Given the description of an element on the screen output the (x, y) to click on. 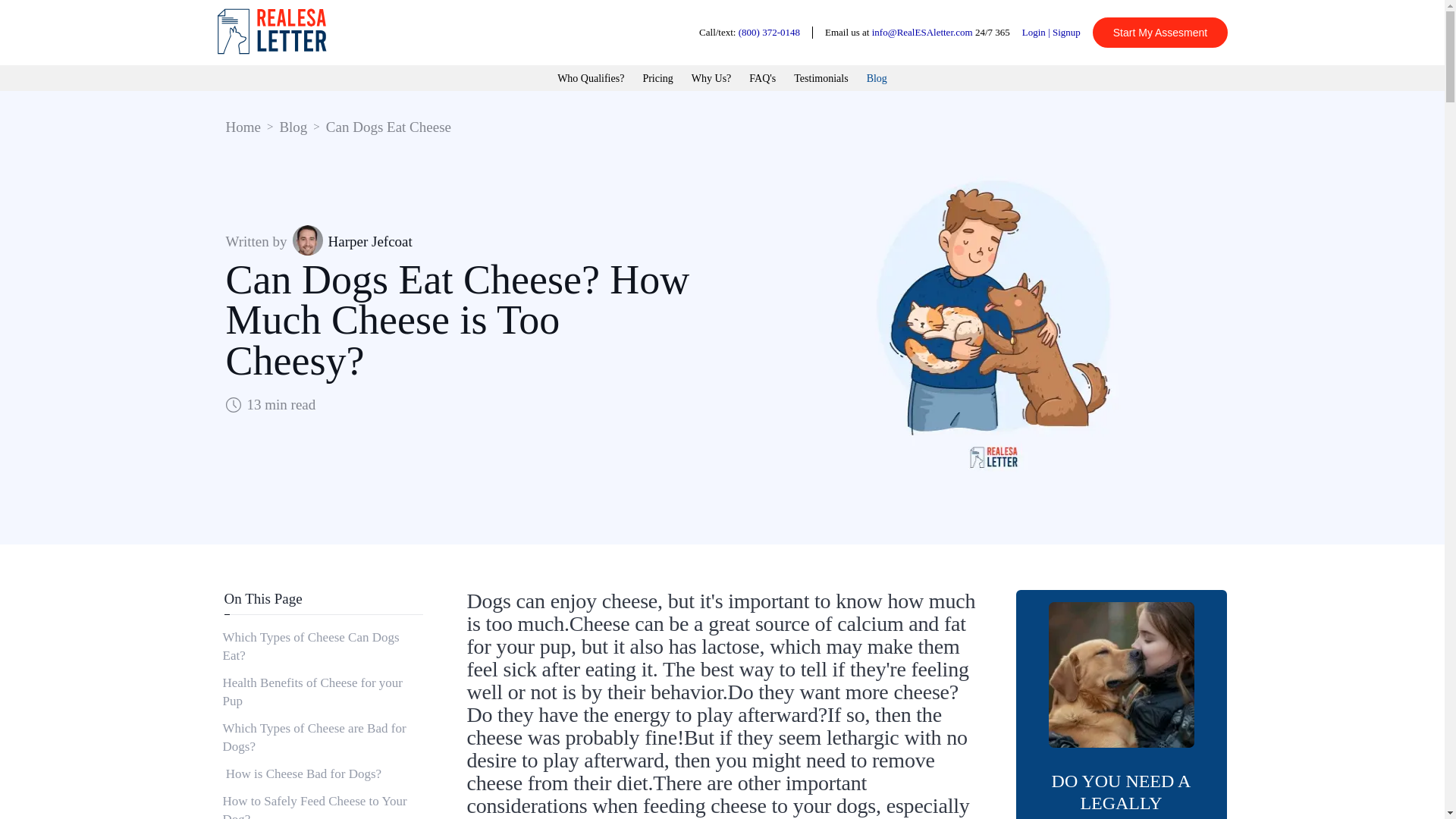
Which Types of Cheese are Bad for Dogs? (321, 737)
 How is Cheese Bad for Dogs? (321, 773)
Home (242, 126)
Start My Assesment (1160, 32)
Health Benefits of Cheese for your Pup (321, 691)
Blog (293, 126)
How to Safely Feed Cheese to Your Dog? (321, 803)
Which Types of Cheese are Bad for Dogs? (321, 737)
Testimonials (820, 78)
FAQ's (762, 78)
Pricing (657, 78)
Which Types of Cheese Can Dogs Eat? (321, 646)
Why Us? (711, 78)
Which Types of Cheese Can Dogs Eat? (321, 646)
Who Qualifies? (590, 78)
